Given the description of an element on the screen output the (x, y) to click on. 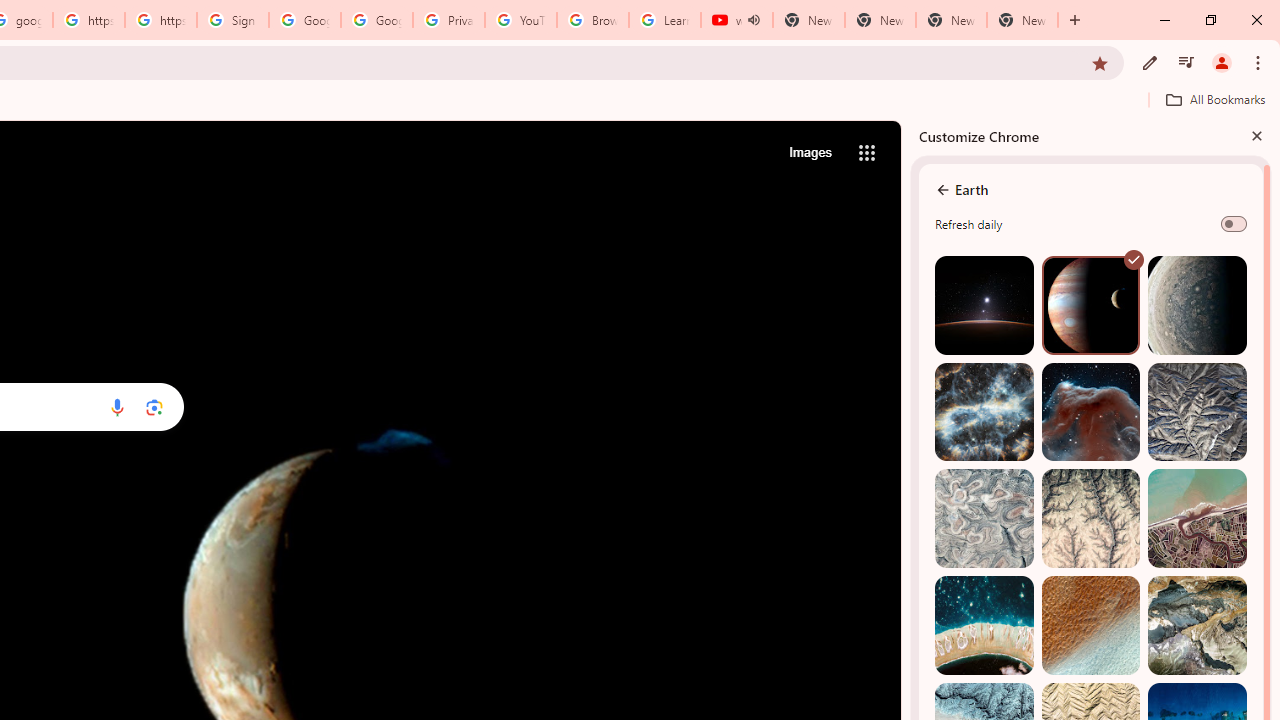
New Tab (1022, 20)
https://scholar.google.com/ (161, 20)
AutomationID: svg (1134, 259)
